Given the description of an element on the screen output the (x, y) to click on. 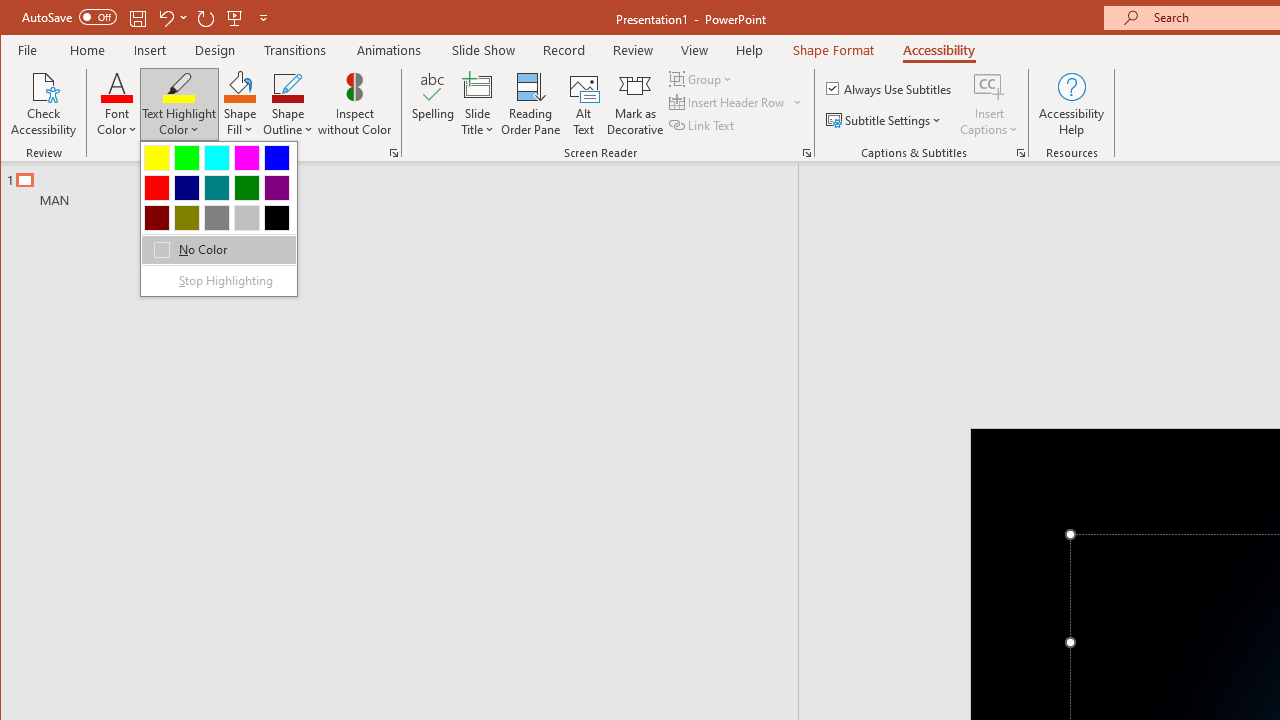
Slide Title (477, 104)
Insert Header Row (728, 101)
Subtitle Settings (885, 119)
Insert Captions (989, 86)
Spelling... (432, 104)
